Given the description of an element on the screen output the (x, y) to click on. 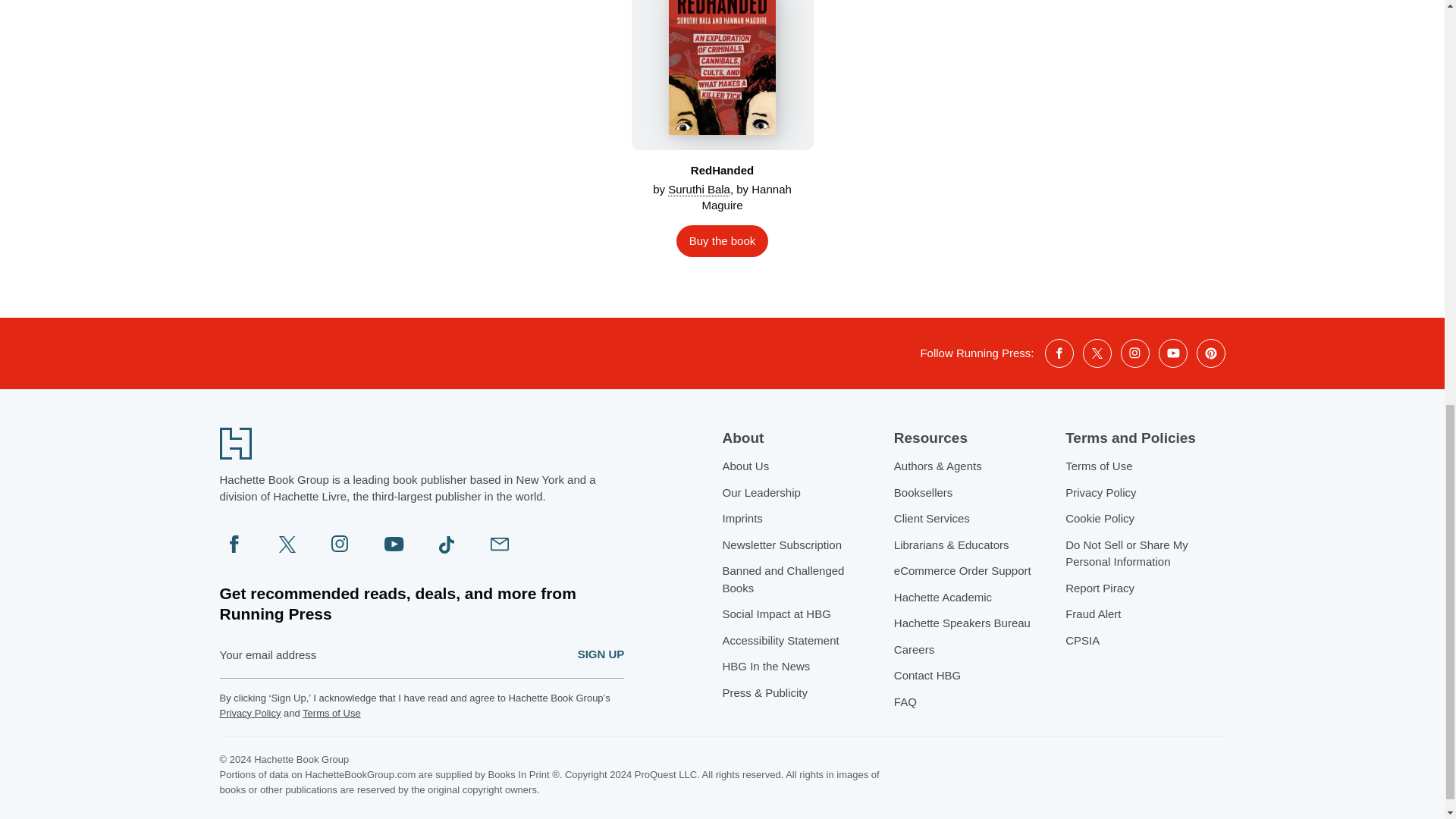
RedHanded (721, 74)
